Given the description of an element on the screen output the (x, y) to click on. 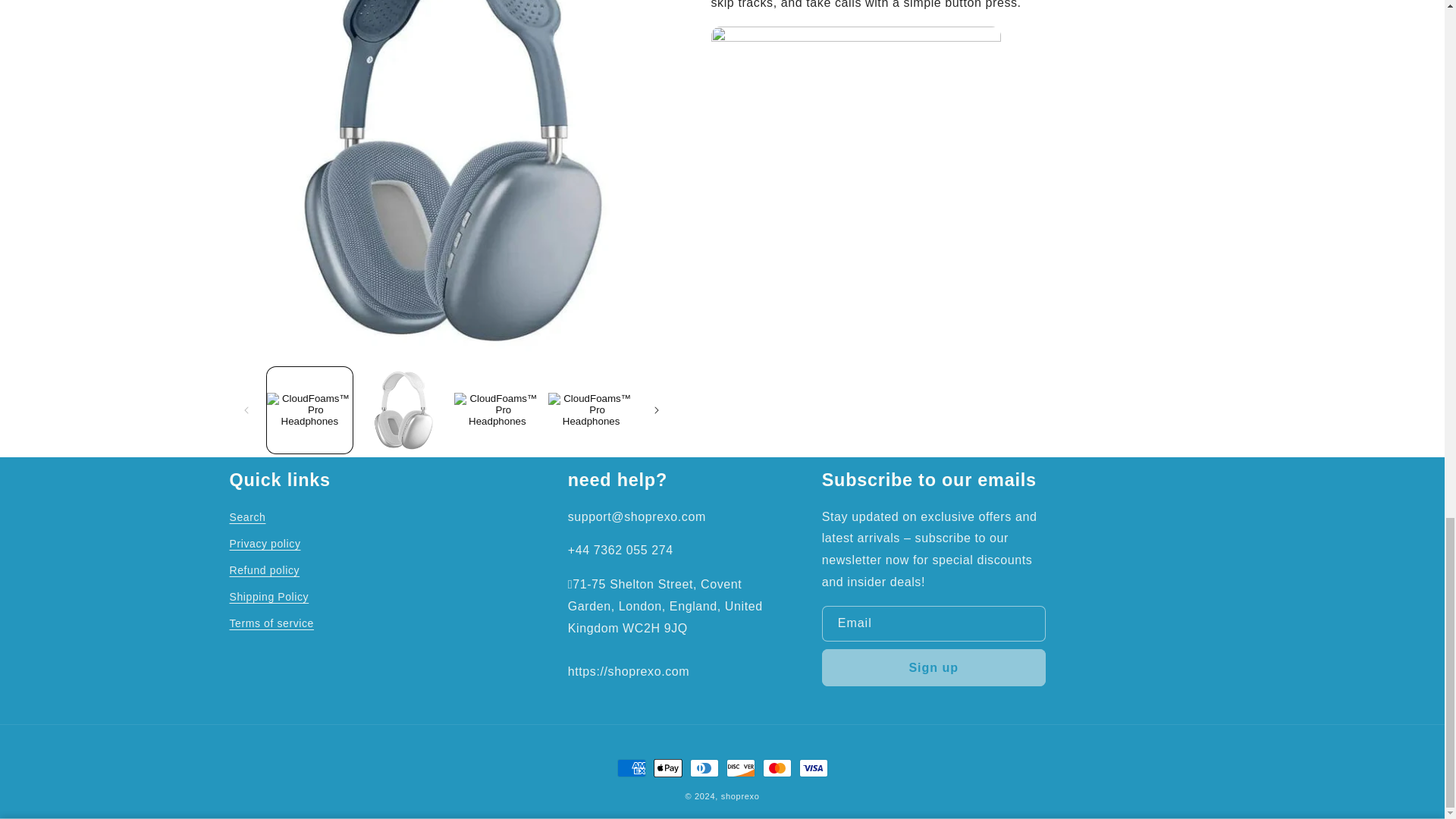
Search (246, 518)
